Given the description of an element on the screen output the (x, y) to click on. 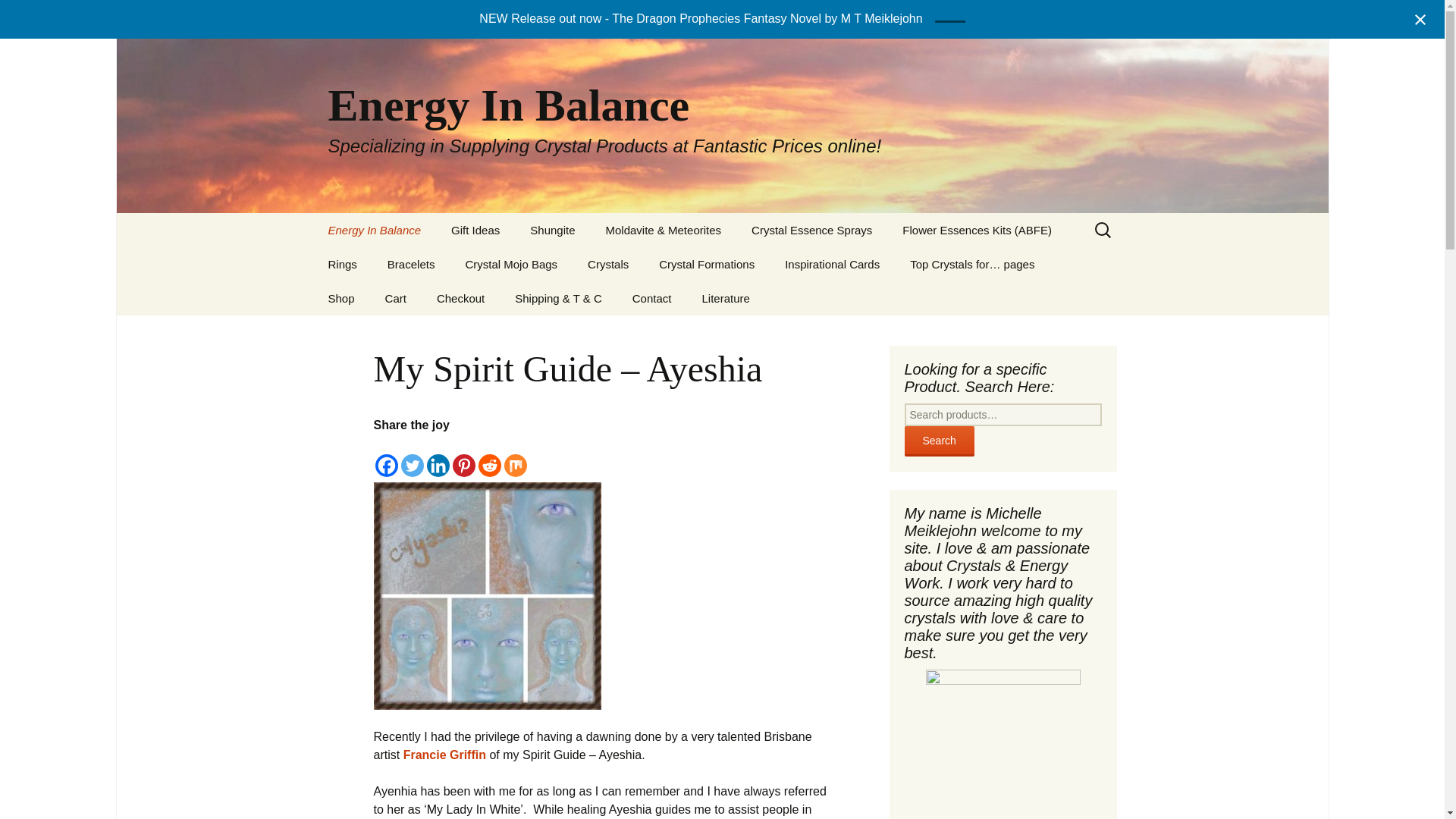
Times To Celebrate (388, 264)
Gift Ideas (475, 229)
Shungite (552, 229)
Energy In Balance (374, 229)
EMF Radiation-Free Air Tube Earbud Headphones (590, 275)
